Given the description of an element on the screen output the (x, y) to click on. 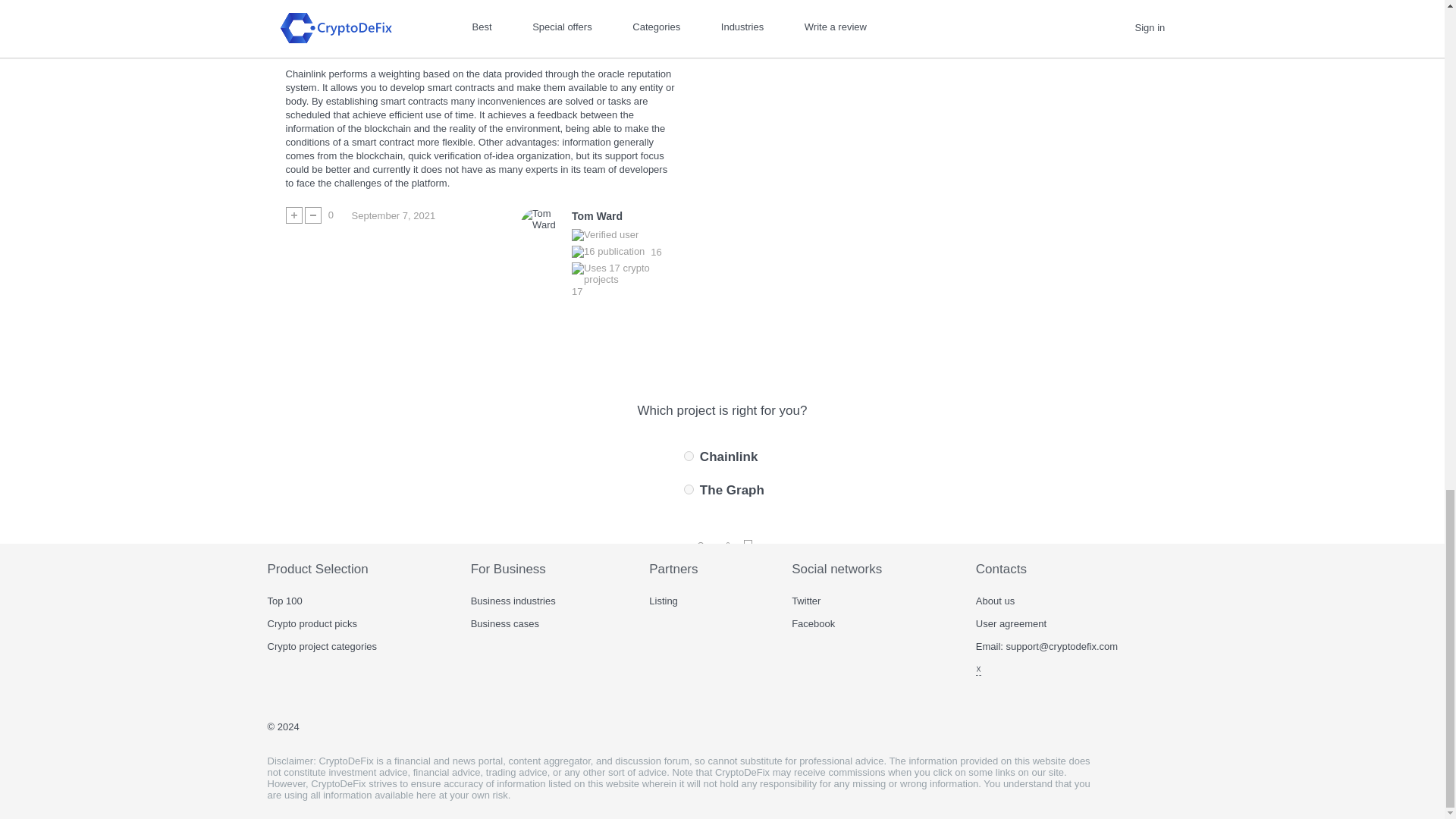
Top 100 (283, 600)
September 7, 2021 (393, 215)
on (689, 489)
Crypto product picks (311, 623)
Tom Ward (597, 216)
on (689, 456)
